Given the description of an element on the screen output the (x, y) to click on. 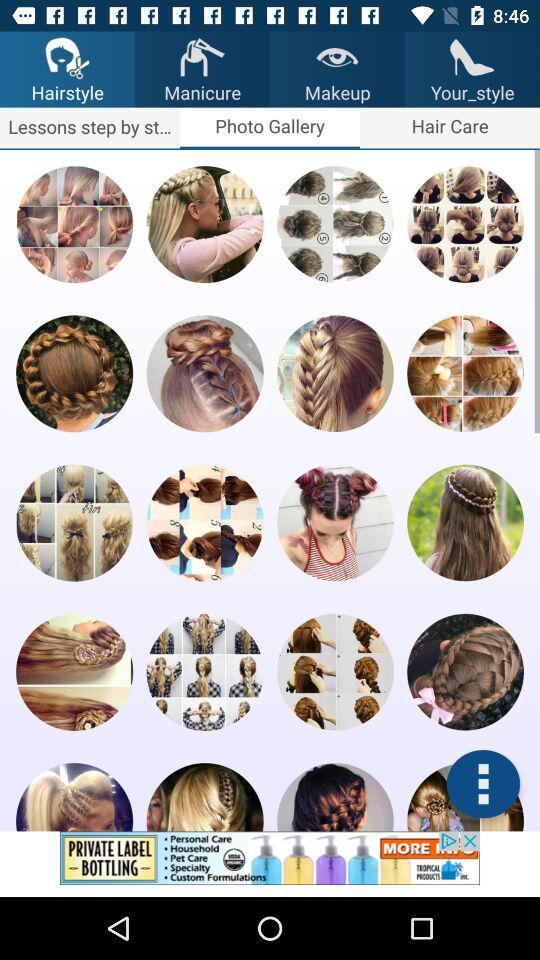
hair cut numeber 19 (335, 797)
